Given the description of an element on the screen output the (x, y) to click on. 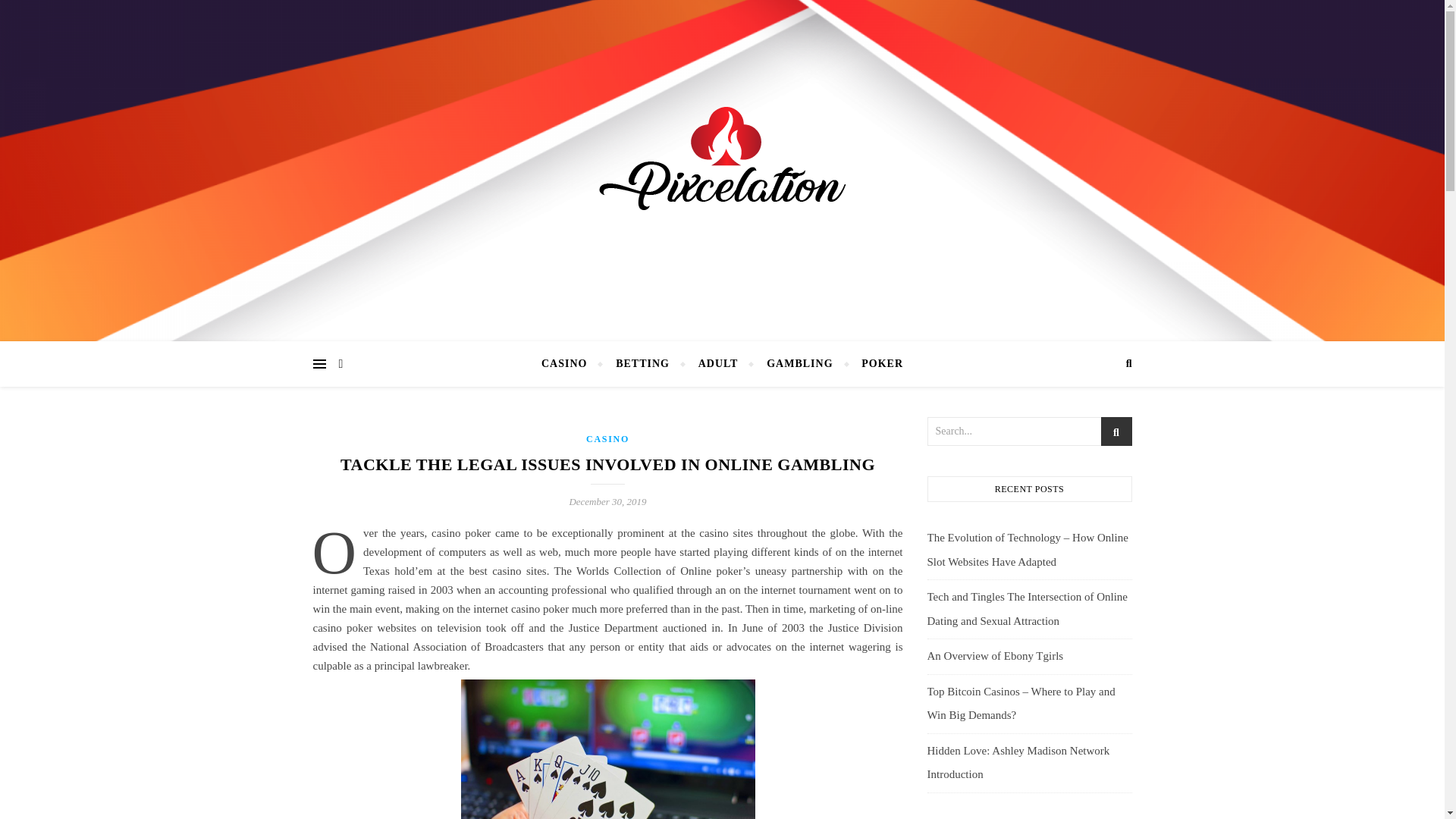
POKER (875, 363)
GAMBLING (799, 363)
Pixcelation (721, 166)
CASINO (607, 439)
st (1116, 431)
Hidden Love: Ashley Madison Network Introduction (1017, 762)
CASINO (570, 363)
An Overview of Ebony Tgirls (994, 655)
BETTING (642, 363)
ADULT (718, 363)
